Given the description of an element on the screen output the (x, y) to click on. 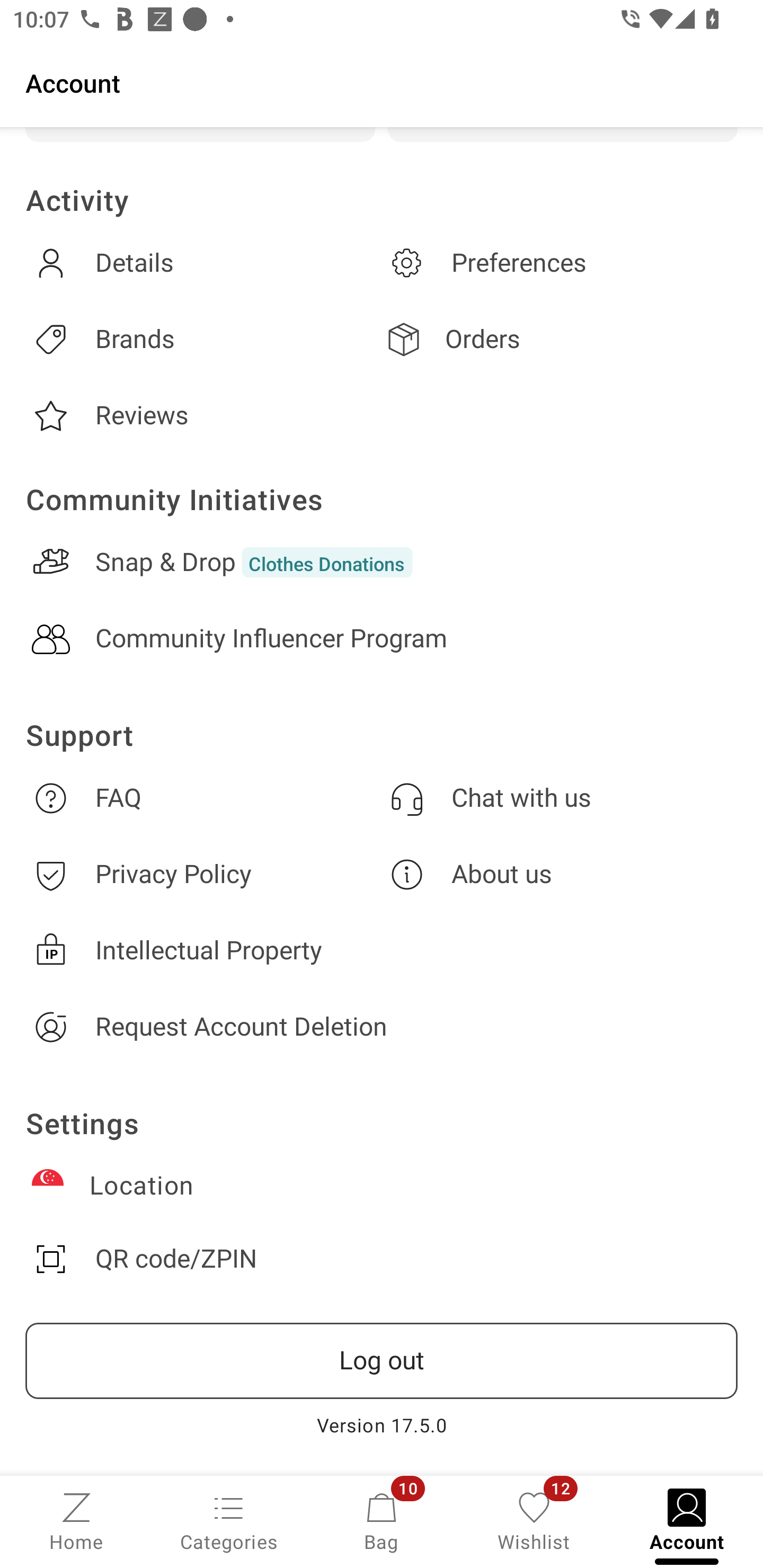
Account (381, 82)
Details (203, 263)
Preferences (559, 263)
Brands (203, 339)
Orders (559, 339)
Reviews (203, 415)
Snap & DropClothes Donations (381, 561)
Community Influencer Program (381, 638)
FAQ (203, 797)
Chat with us (559, 797)
Privacy Policy (203, 873)
About us (559, 873)
Intellectual Property (381, 950)
Request Account Deletion (381, 1026)
QR code/ZPIN (381, 1258)
Log out (381, 1360)
Home (76, 1519)
Categories (228, 1519)
Bag, 10 new notifications Bag (381, 1519)
Wishlist, 12 new notifications Wishlist (533, 1519)
